Given the description of an element on the screen output the (x, y) to click on. 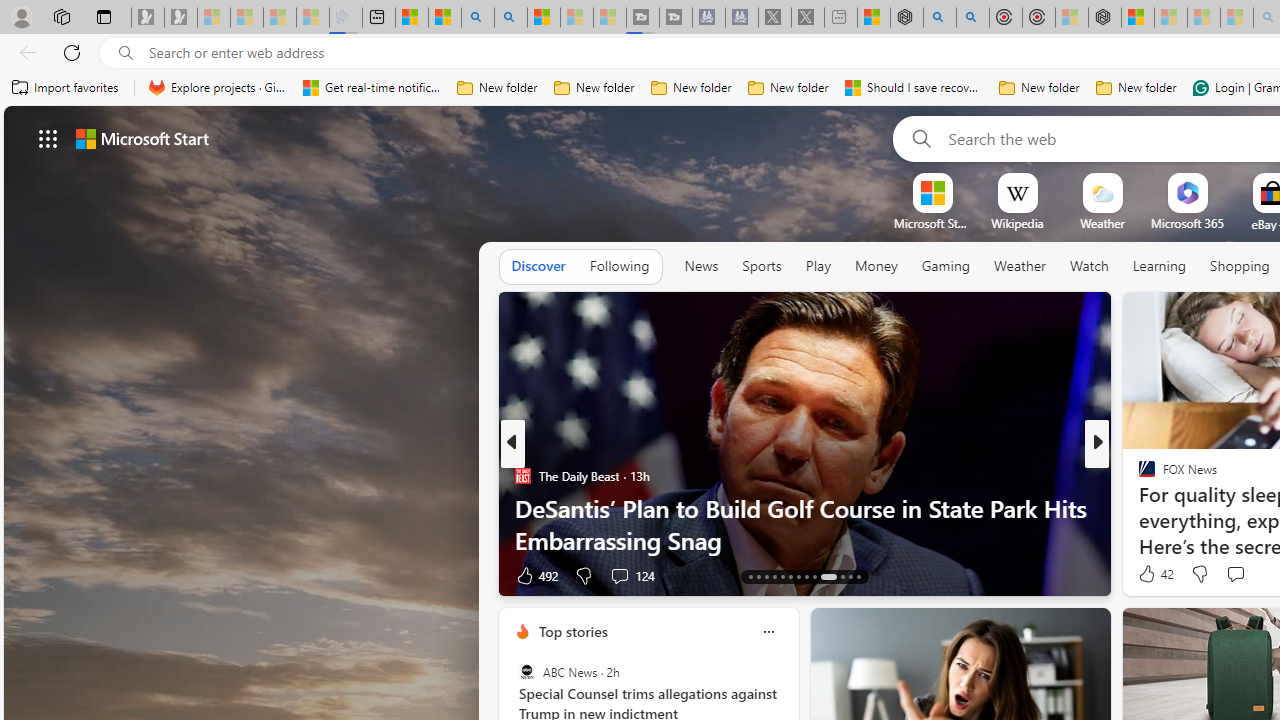
Should I save recovered Word documents? - Microsoft Support (913, 88)
View comments 124 Comment (632, 574)
Weather (1019, 267)
Wikipedia (1017, 223)
AutomationID: tab-18 (789, 576)
Newsletter Sign Up - Sleeping (181, 17)
View comments 2 Comment (1234, 575)
49 Like (1149, 574)
AutomationID: waffle (47, 138)
Class: control (47, 138)
